Given the description of an element on the screen output the (x, y) to click on. 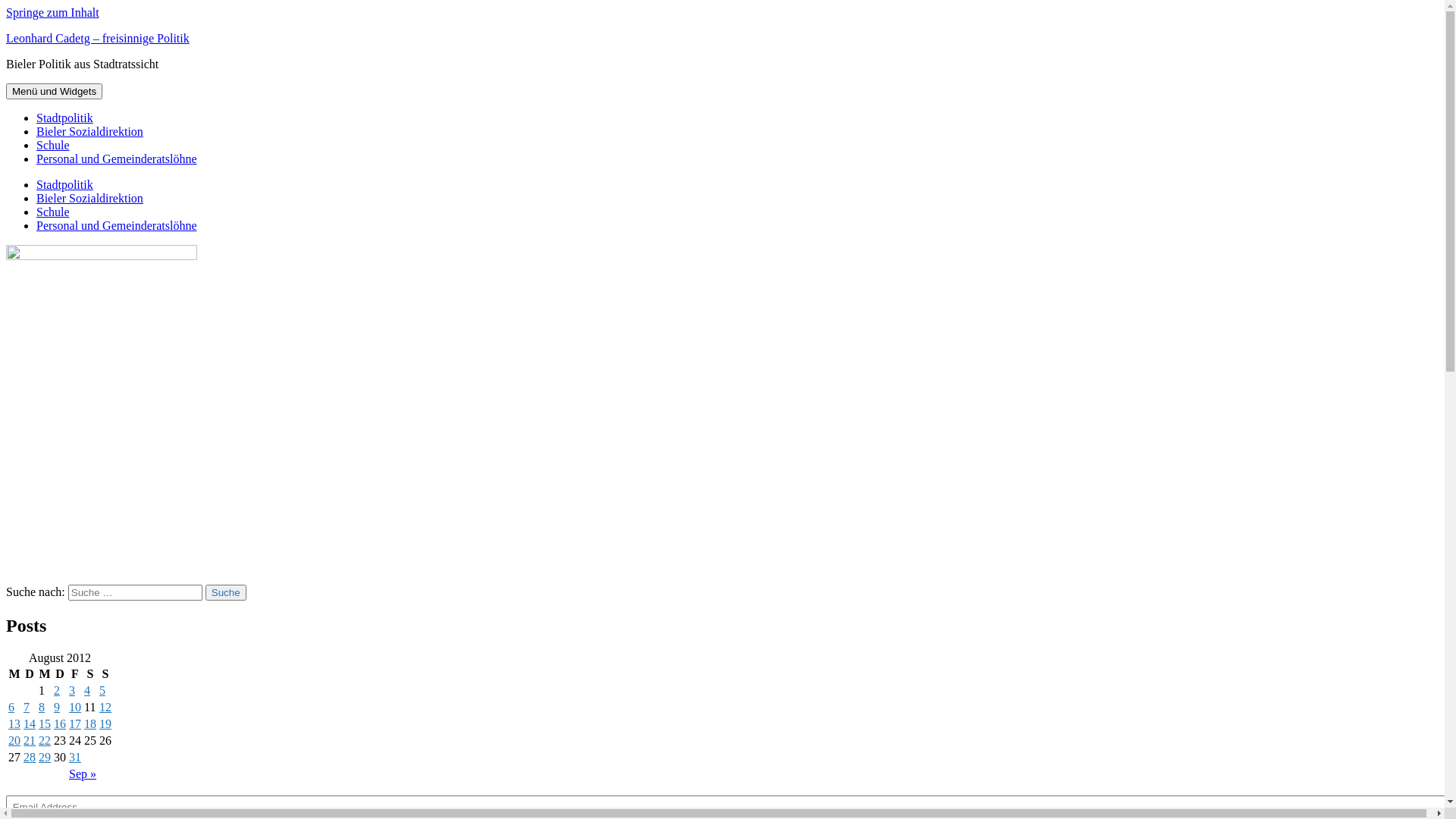
31 Element type: text (75, 756)
Stadtpolitik Element type: text (64, 117)
5 Element type: text (102, 690)
13 Element type: text (14, 723)
12 Element type: text (105, 706)
4 Element type: text (87, 690)
17 Element type: text (75, 723)
Schule Element type: text (52, 144)
16 Element type: text (59, 723)
21 Element type: text (29, 740)
19 Element type: text (105, 723)
18 Element type: text (90, 723)
9 Element type: text (56, 706)
7 Element type: text (26, 706)
10 Element type: text (75, 706)
28 Element type: text (29, 756)
29 Element type: text (44, 756)
8 Element type: text (41, 706)
15 Element type: text (44, 723)
22 Element type: text (44, 740)
Bieler Sozialdirektion Element type: text (89, 131)
3 Element type: text (72, 690)
Suche Element type: text (225, 592)
Springe zum Inhalt Element type: text (52, 12)
2 Element type: text (56, 690)
Bieler Sozialdirektion Element type: text (89, 197)
20 Element type: text (14, 740)
Schule Element type: text (52, 211)
6 Element type: text (11, 706)
Stadtpolitik Element type: text (64, 184)
14 Element type: text (29, 723)
